Given the description of an element on the screen output the (x, y) to click on. 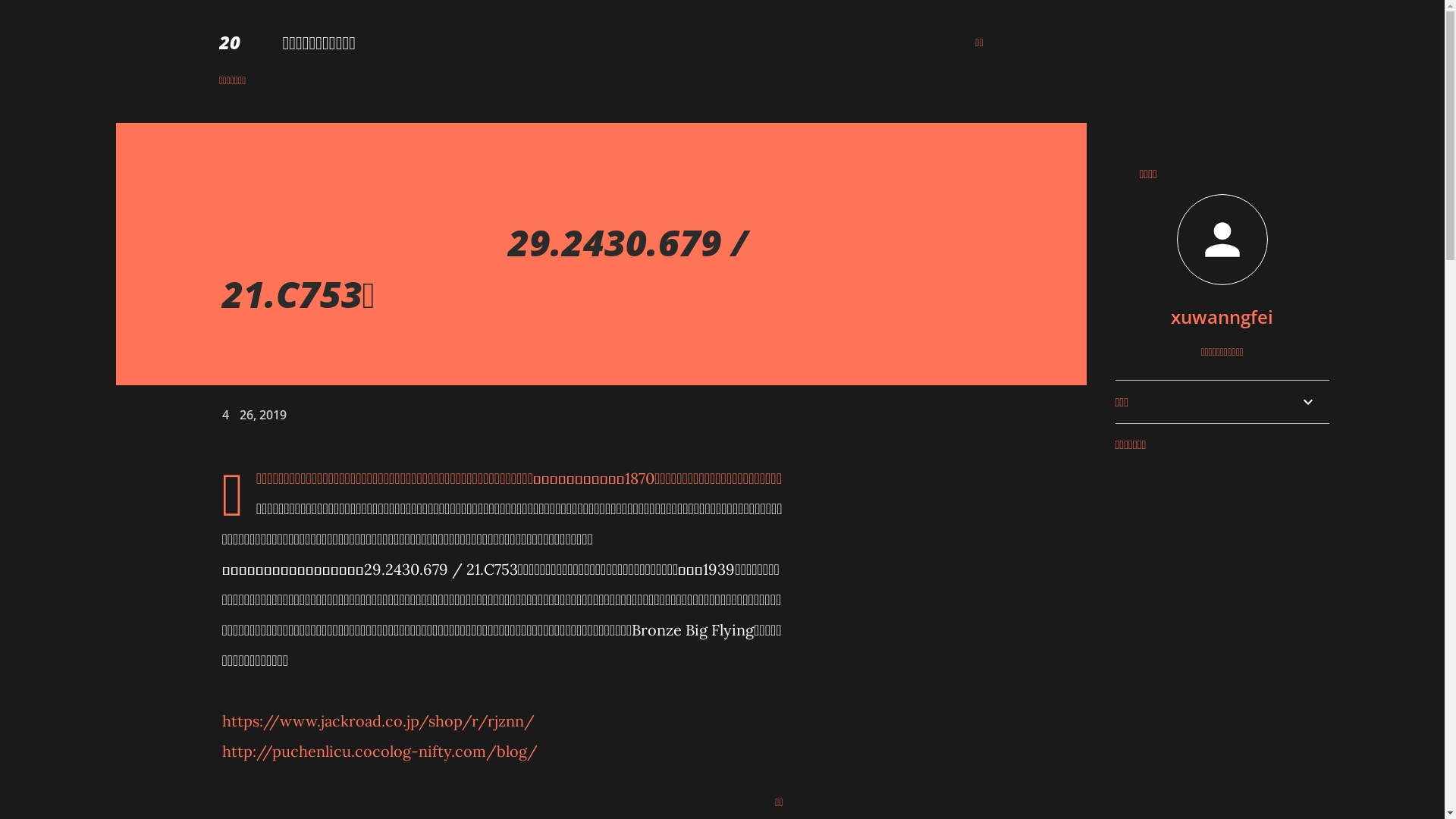
https://www.jackroad.co.jp/shop/r/rjznn/ Element type: text (377, 720)
http://puchenlicu.cocolog-nifty.com/blog/ Element type: text (378, 750)
xuwanngfei Element type: text (1221, 316)
